Given the description of an element on the screen output the (x, y) to click on. 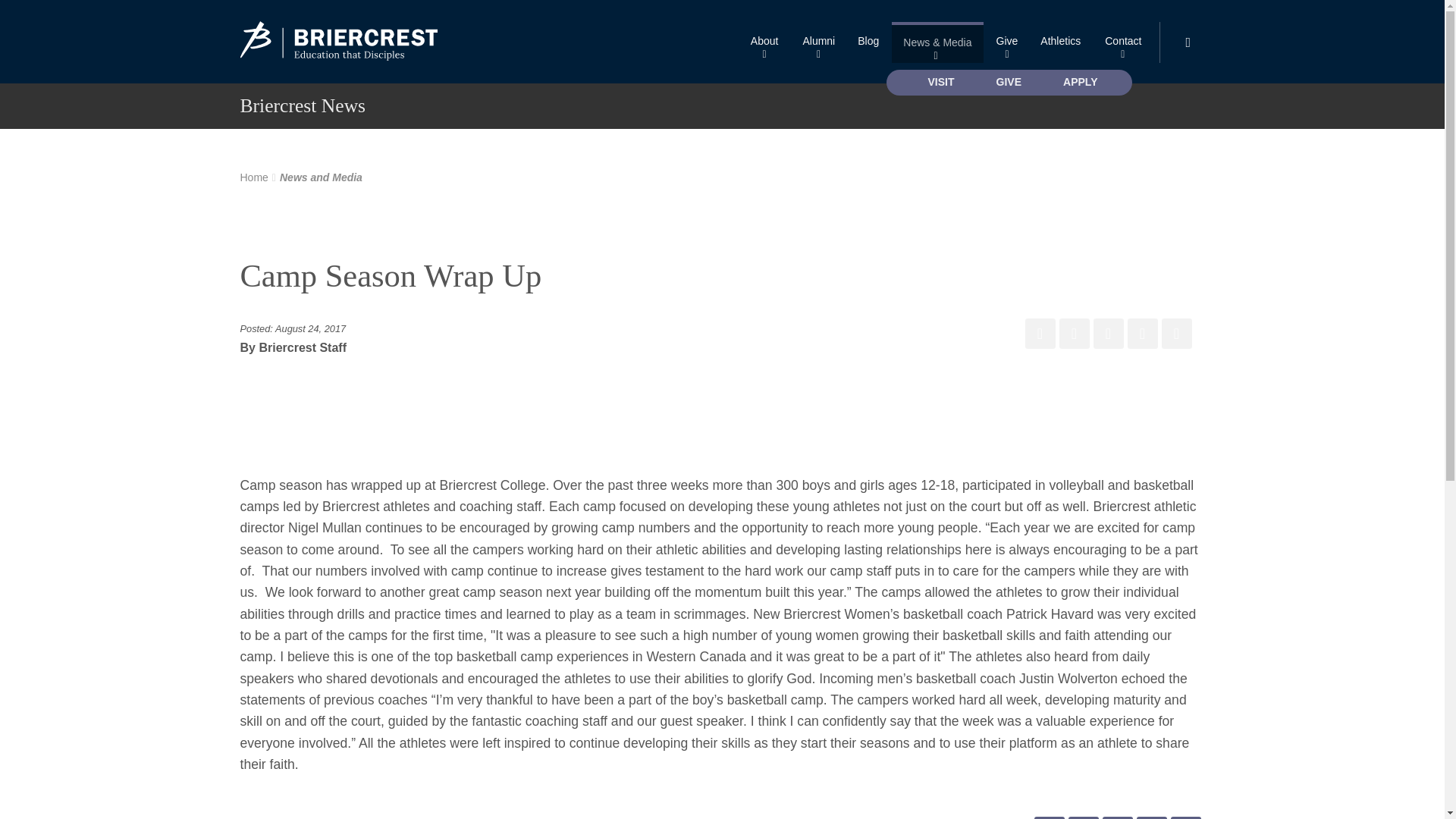
email a link to this (1176, 333)
share this to Pinterest (1108, 333)
Visit (941, 81)
Give (1007, 42)
Athletics (1060, 42)
Blog (867, 42)
Contact (1123, 42)
share this to Pinterest (1117, 817)
Athletics (1060, 42)
share this to LinkedIn (1150, 817)
Give (1007, 42)
Apply (1079, 81)
About (764, 42)
About (764, 42)
share this to my Facebook page (1048, 817)
